Given the description of an element on the screen output the (x, y) to click on. 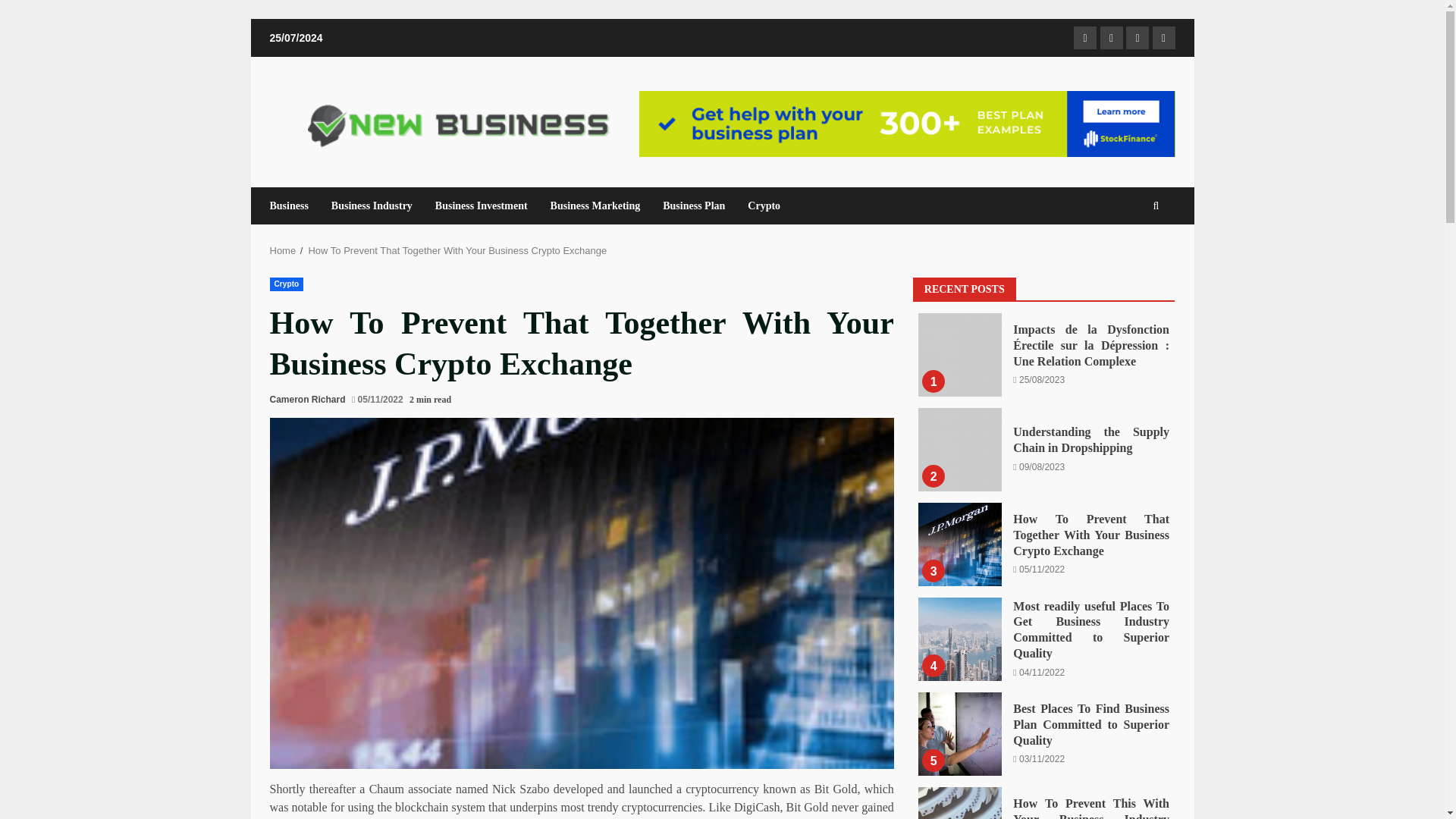
Facebook (1085, 37)
How To Prevent This With Your Business Industry Leadership (959, 803)
Crypto (286, 284)
Home (283, 250)
Understanding the Supply Chain in Dropshipping (959, 449)
Cameron Richard (307, 399)
Understanding the Supply Chain in Dropshipping (959, 449)
Pinterest (1163, 37)
Business Industry (371, 205)
Business Investment (480, 205)
Business Marketing (595, 205)
